Given the description of an element on the screen output the (x, y) to click on. 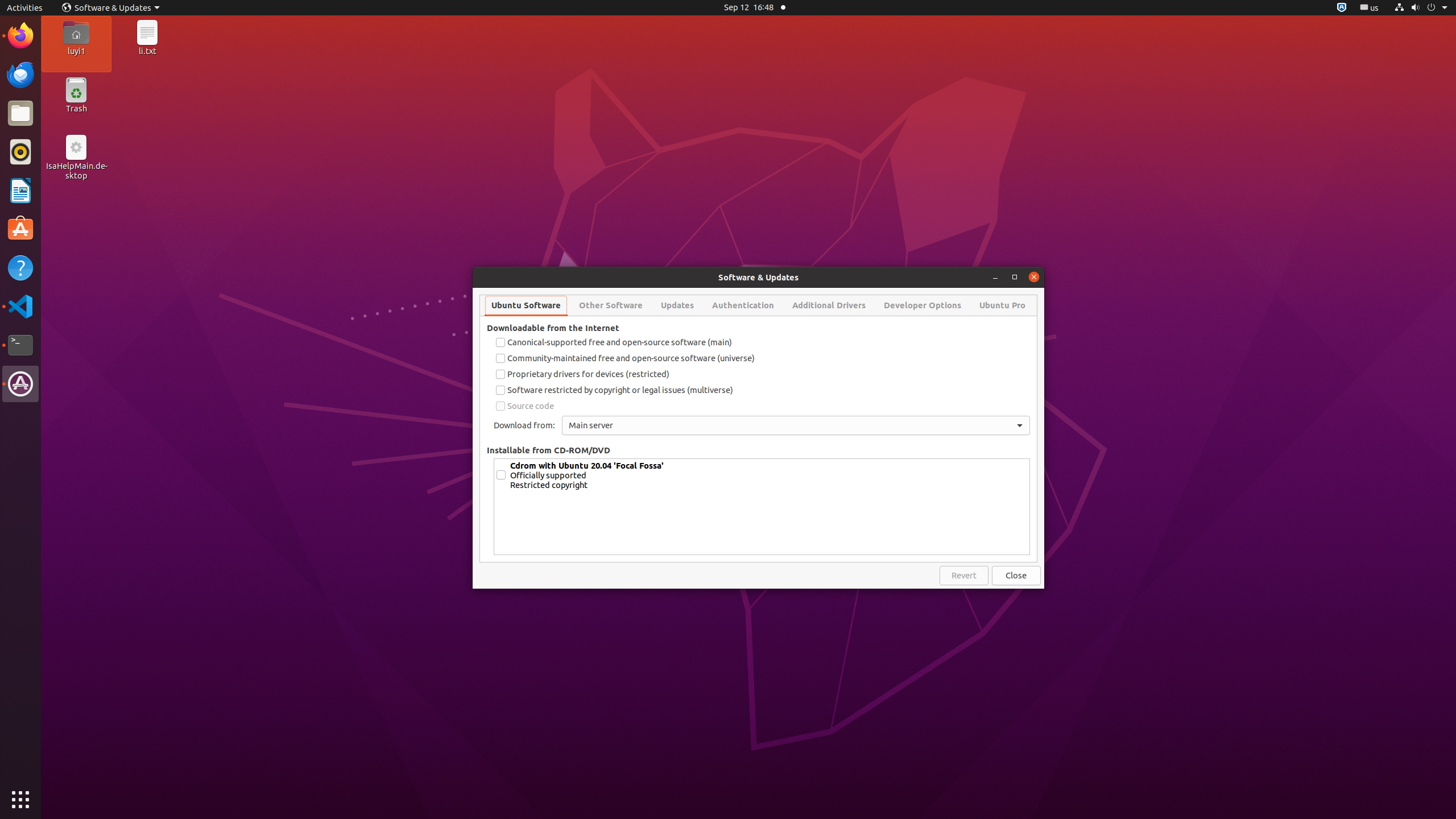
Proprietary drivers for devices (restricted) Element type: check-box (761, 373)
Firefox Web Browser Element type: push-button (20, 35)
Source code Element type: check-box (761, 405)
